Given the description of an element on the screen output the (x, y) to click on. 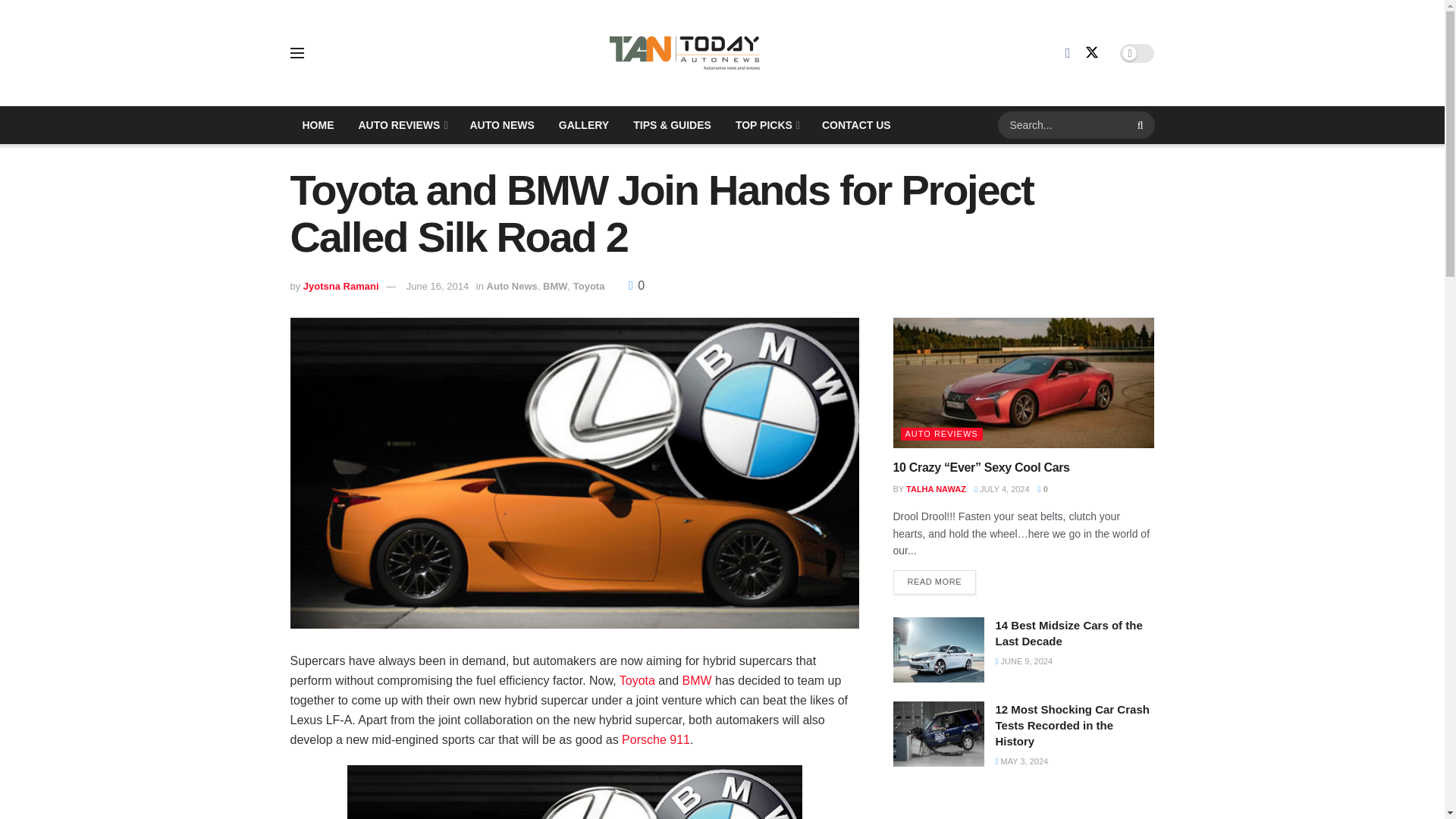
HOME (317, 125)
Porsche 911 (655, 739)
BMW (696, 680)
AUTO REVIEWS (401, 125)
Toyota (637, 680)
